Given the description of an element on the screen output the (x, y) to click on. 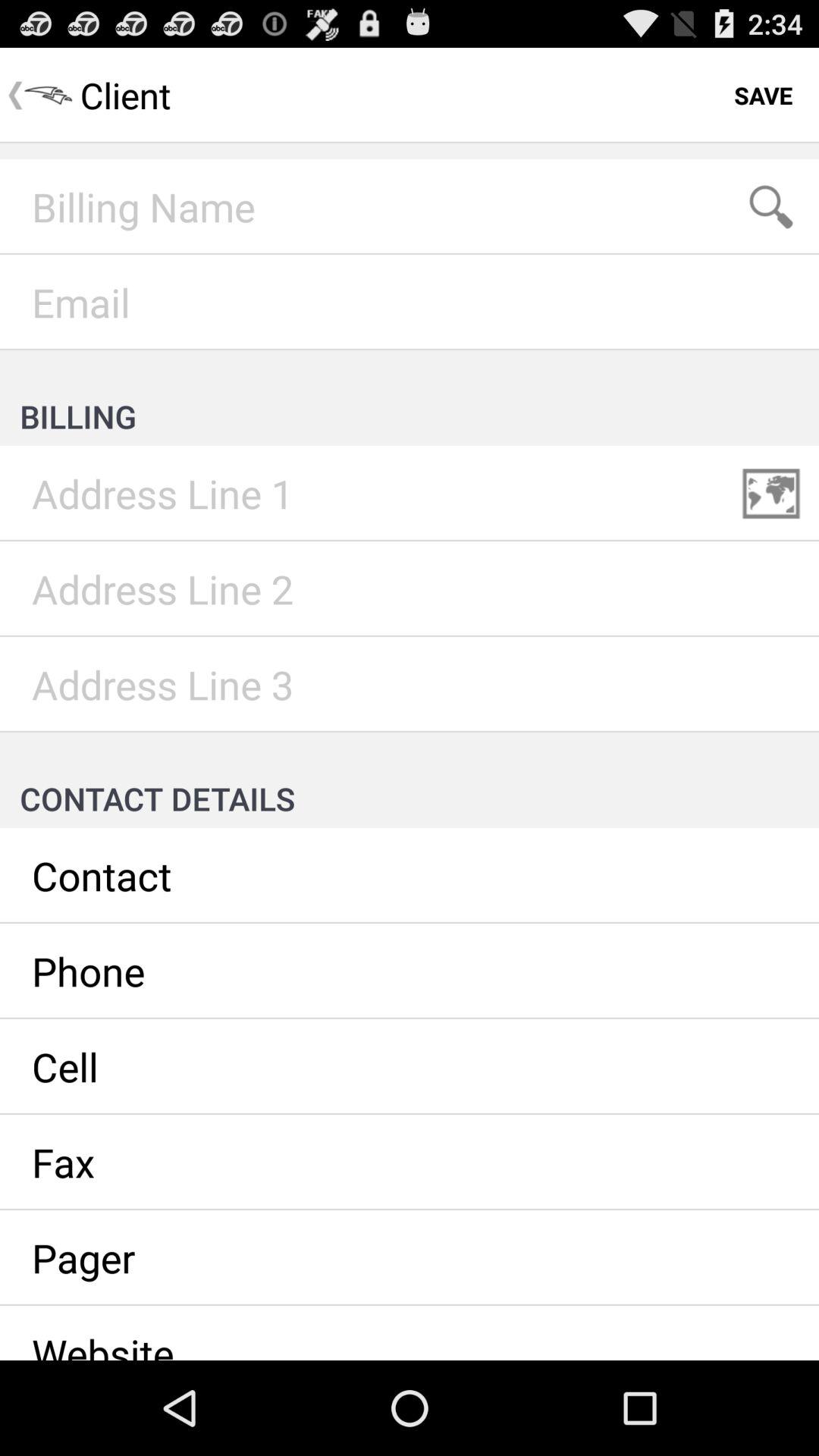
scroll to save icon (763, 95)
